Given the description of an element on the screen output the (x, y) to click on. 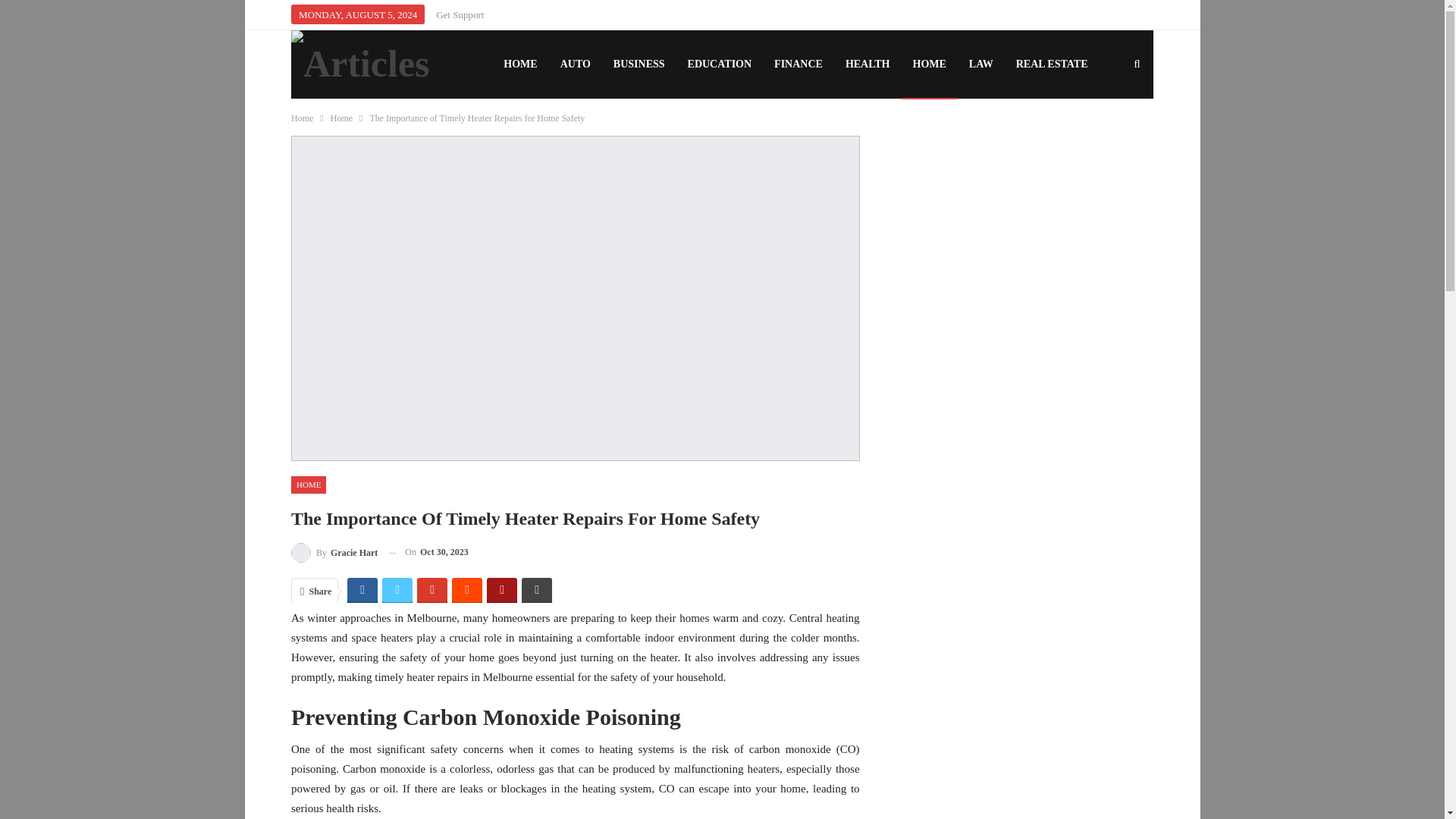
EDUCATION (719, 64)
FINANCE (798, 64)
HEALTH (867, 64)
BUSINESS (639, 64)
SHOPPING (531, 132)
By Gracie Hart (334, 552)
Home (302, 117)
Get Support (459, 14)
Home (341, 117)
Browse Author Articles (334, 552)
